Given the description of an element on the screen output the (x, y) to click on. 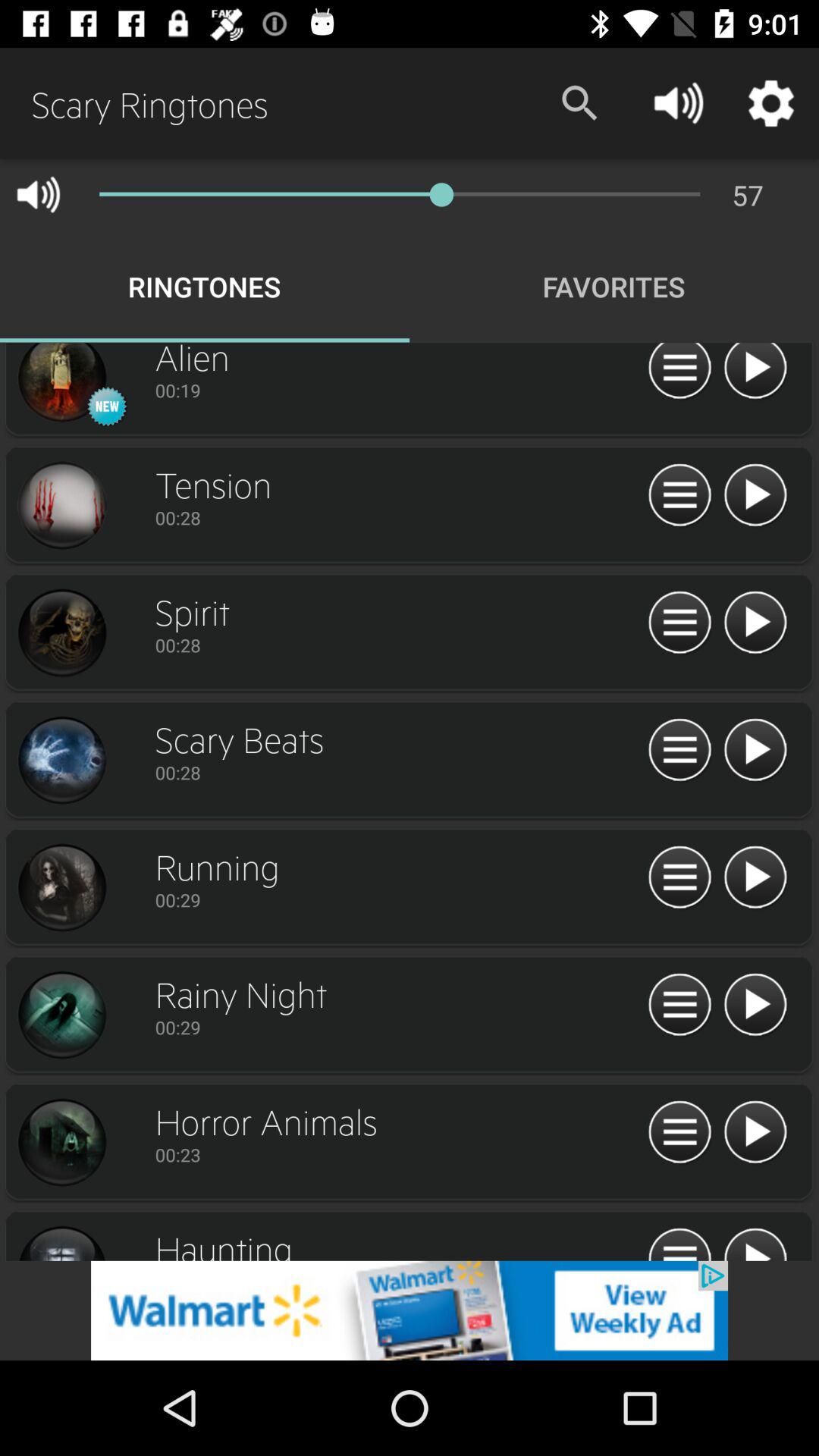
menu button (679, 495)
